Given the description of an element on the screen output the (x, y) to click on. 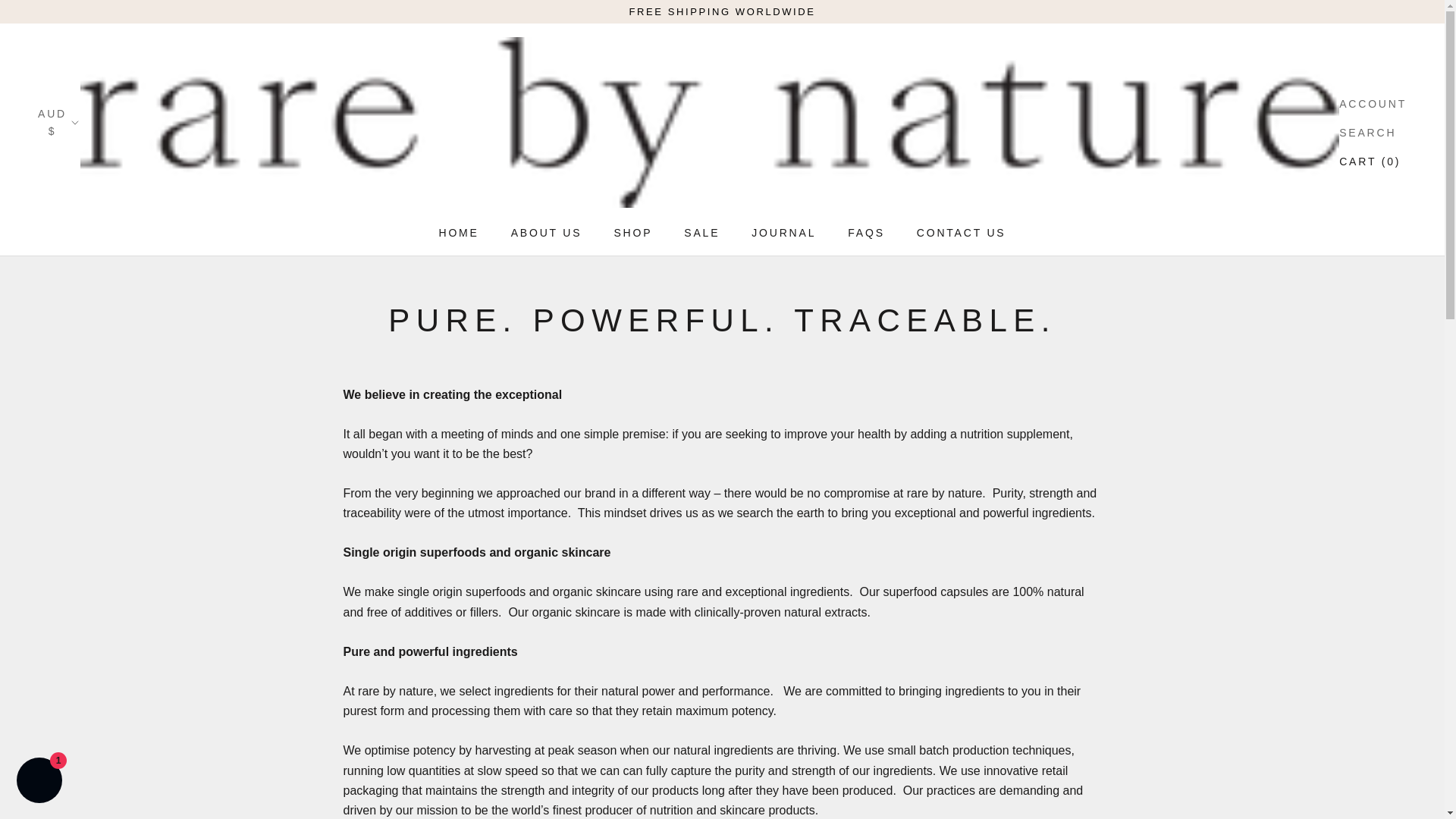
SHOP (632, 232)
Shopify online store chat (458, 232)
